Given the description of an element on the screen output the (x, y) to click on. 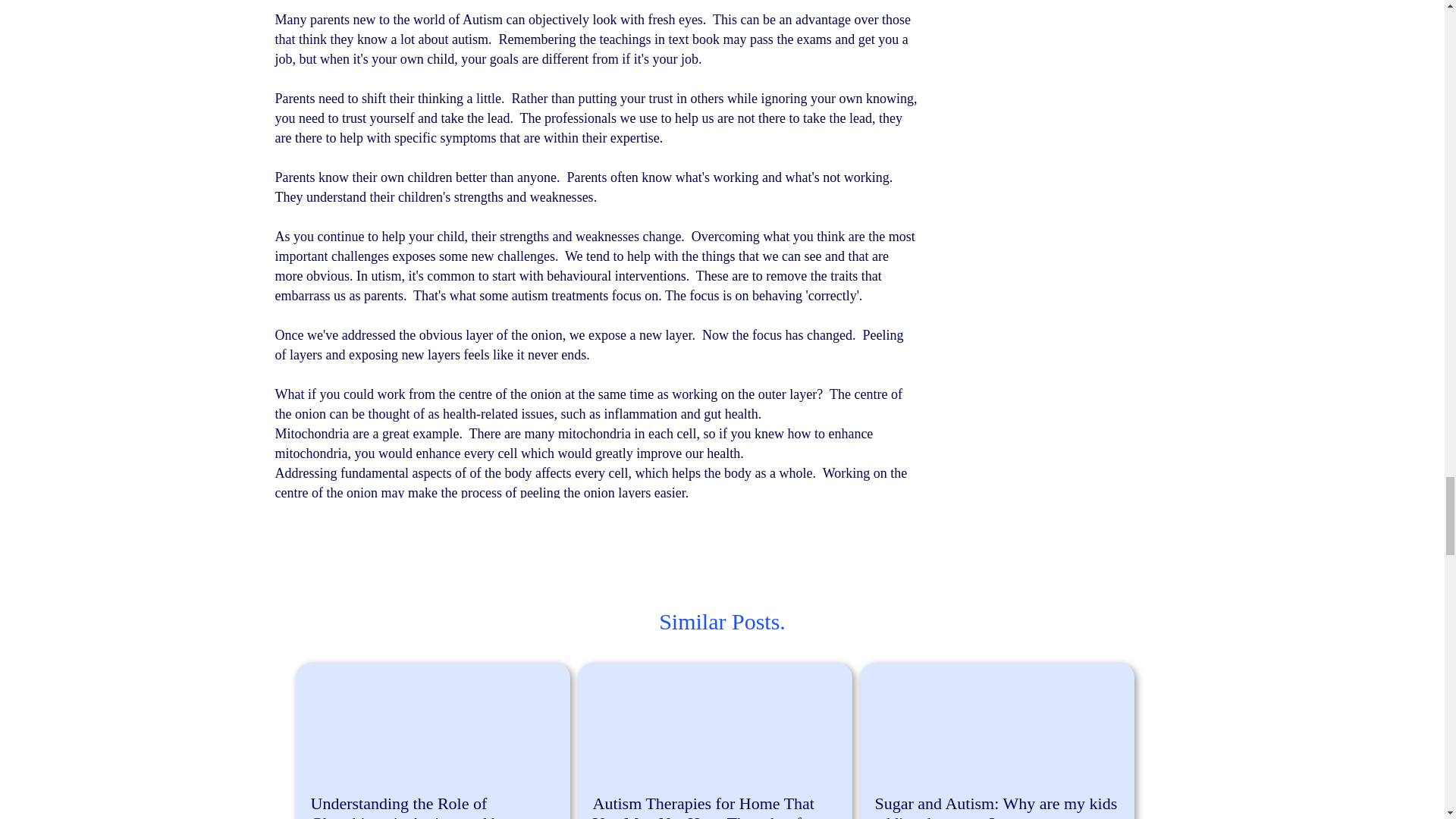
Autism Therapies for Home That You May Not Have Thought of (714, 804)
Sugar and Autism: Why are my kids addicted to sugar? (996, 804)
